Given the description of an element on the screen output the (x, y) to click on. 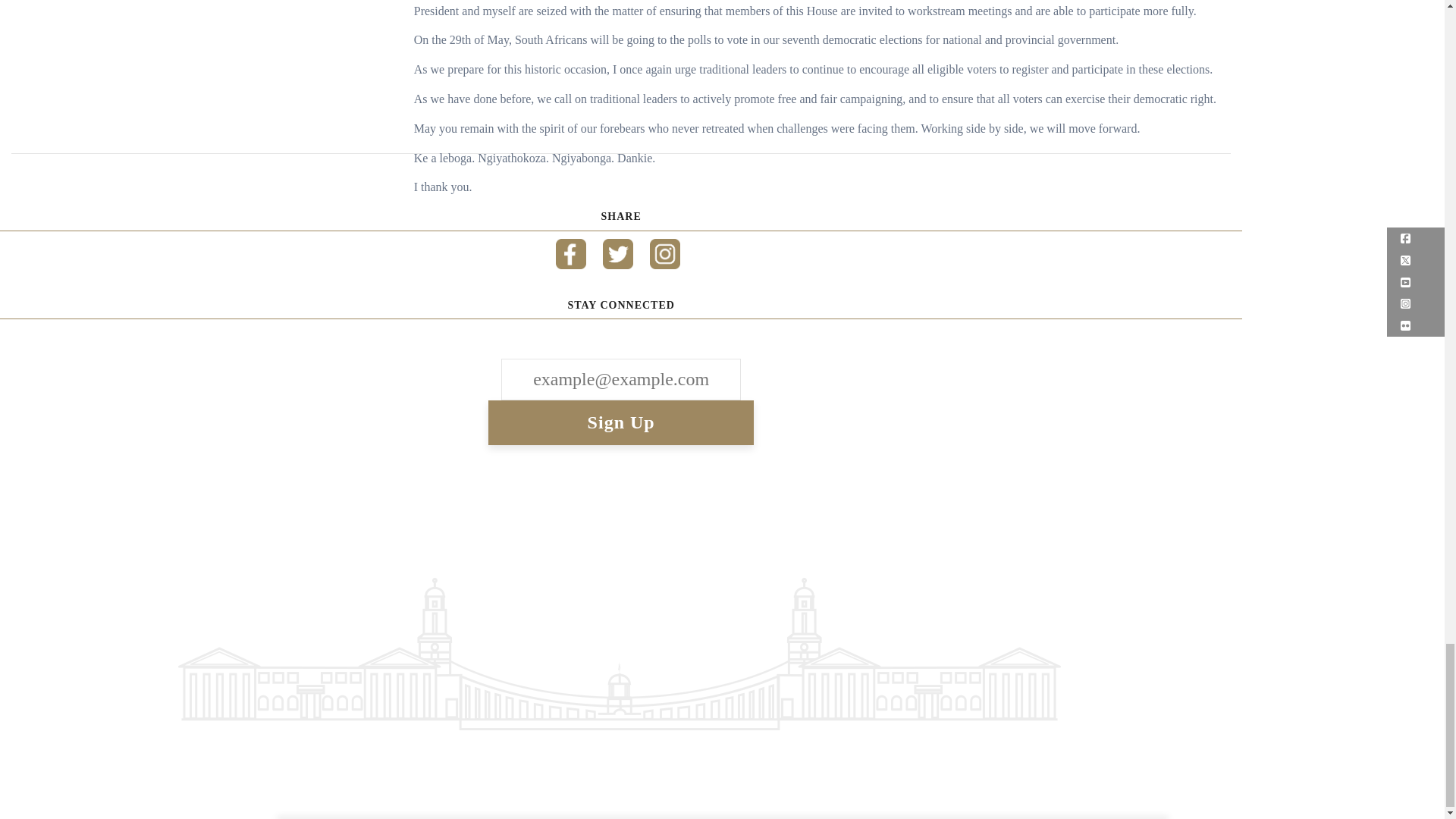
Sign Up (620, 422)
Facebook (571, 248)
Twitter (617, 248)
Sign Up (620, 422)
Instagram (664, 248)
